Given the description of an element on the screen output the (x, y) to click on. 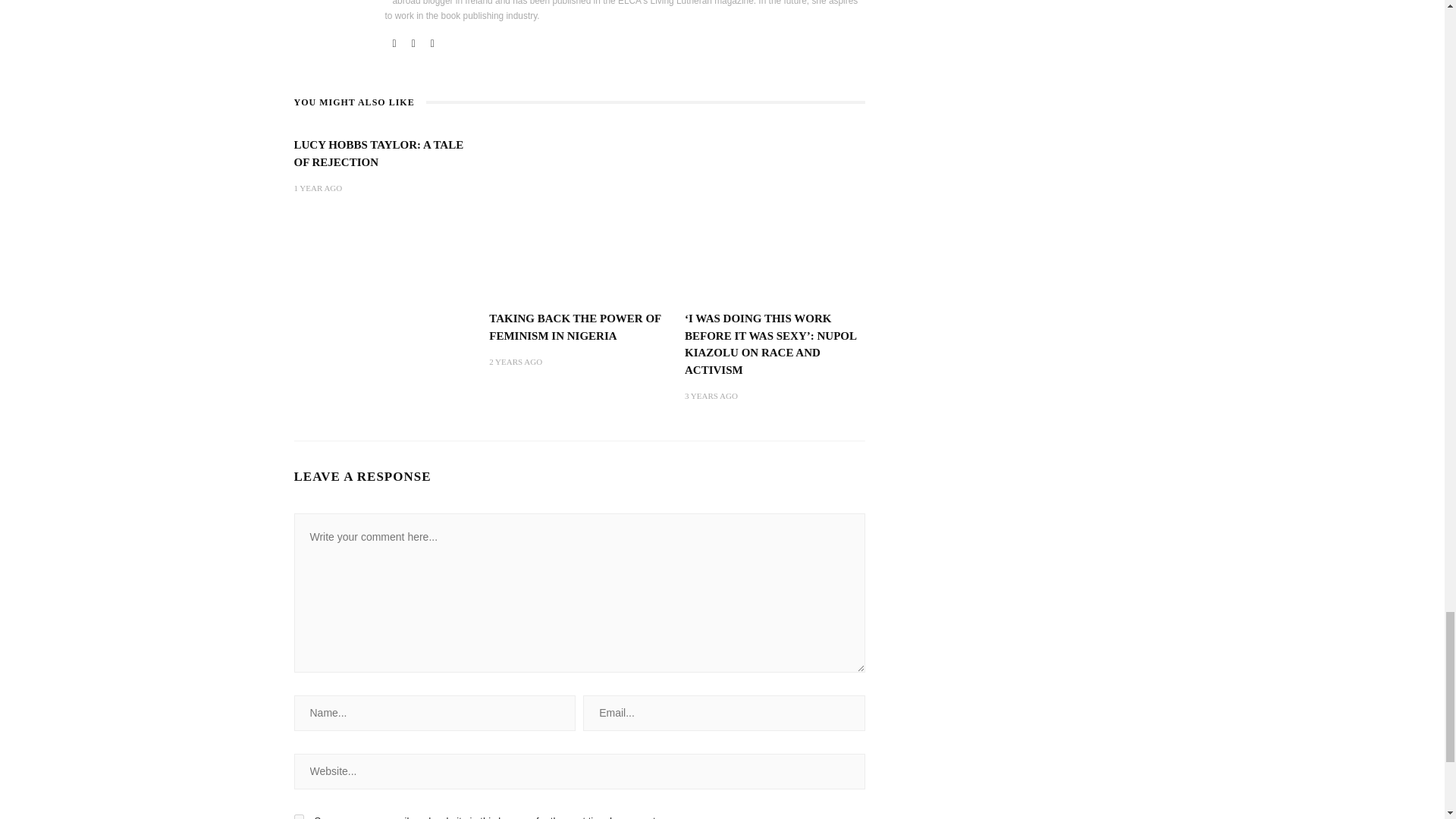
Taking Back The Power Of Feminism In Nigeria (575, 269)
Leave a comment (351, 807)
Lucy Hobbs Taylor: A Tale Of Rejection (379, 95)
yes (299, 761)
Taking Back The Power Of Feminism In Nigeria (579, 159)
